Given the description of an element on the screen output the (x, y) to click on. 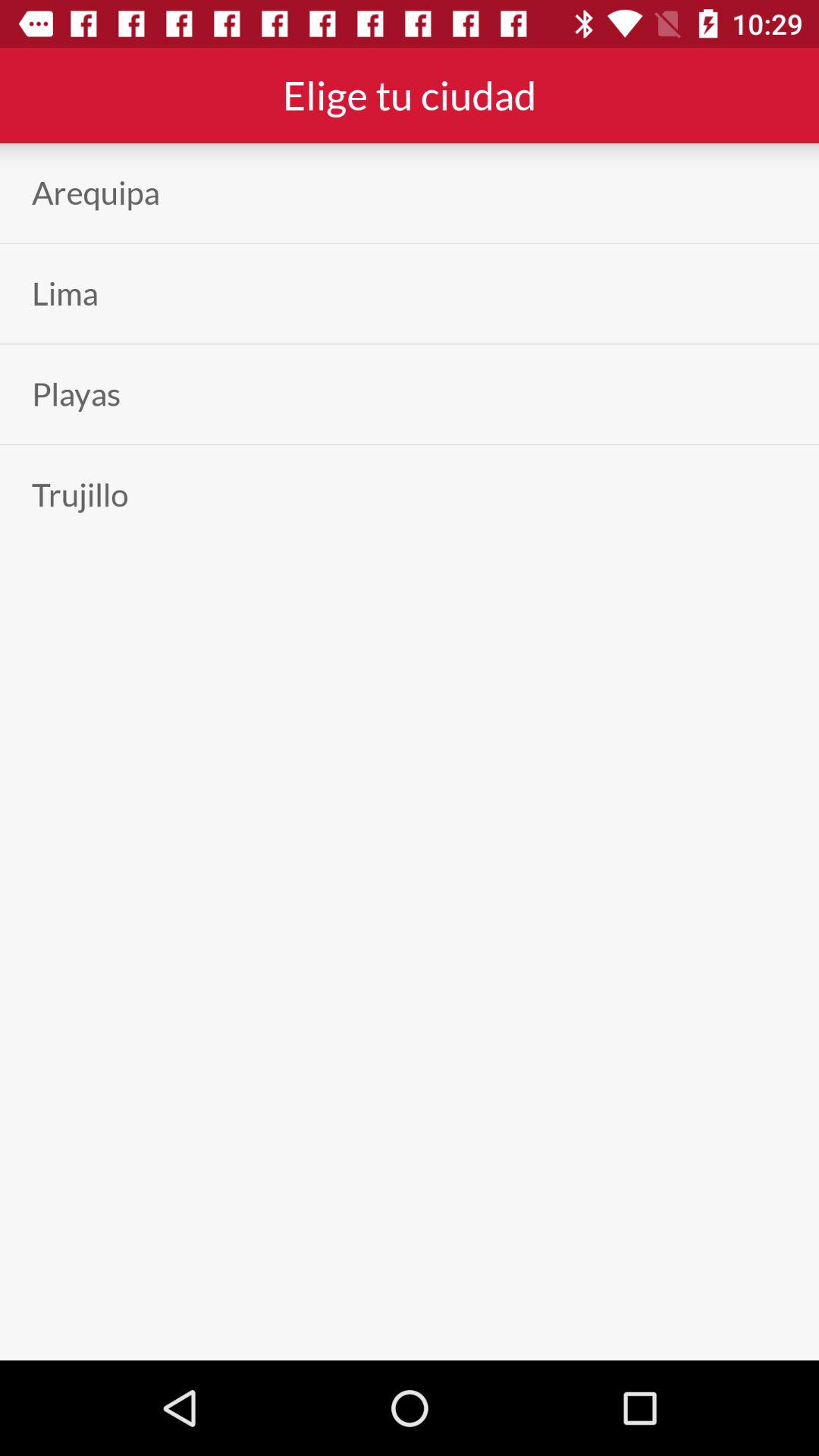
press the app above lima item (95, 193)
